Given the description of an element on the screen output the (x, y) to click on. 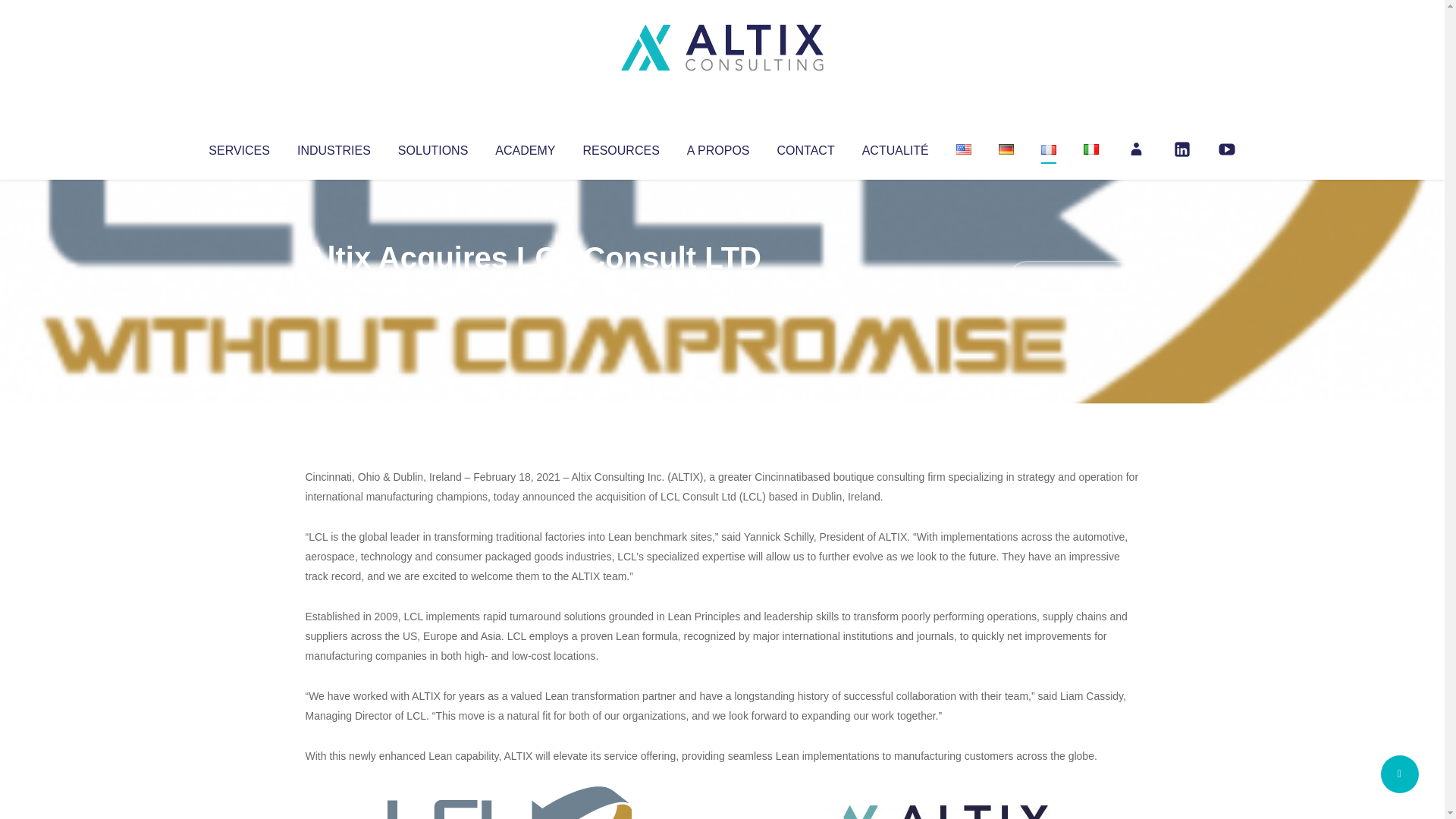
A PROPOS (718, 146)
SOLUTIONS (432, 146)
Altix (333, 287)
SERVICES (238, 146)
Uncategorized (530, 287)
RESOURCES (620, 146)
Articles par Altix (333, 287)
ACADEMY (524, 146)
INDUSTRIES (334, 146)
No Comments (1073, 278)
